Given the description of an element on the screen output the (x, y) to click on. 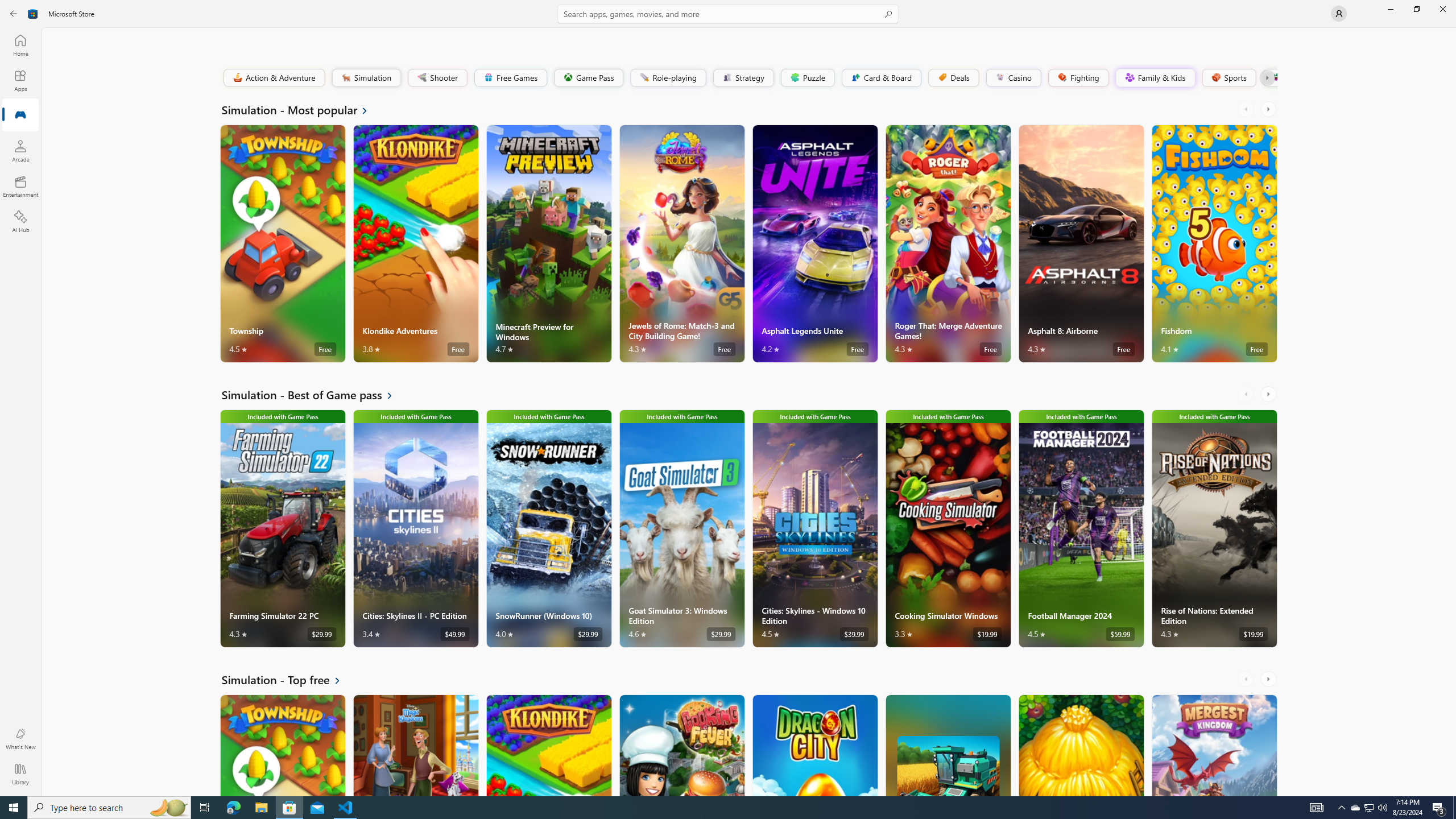
Restore Microsoft Store (1416, 9)
See all  Simulation - Best of Game pass (313, 394)
Family & Kids (1154, 77)
What's New (20, 738)
Apps (20, 80)
Role-playing (668, 77)
Shooter (436, 77)
Platformer (1269, 77)
Free Games (509, 77)
